Given the description of an element on the screen output the (x, y) to click on. 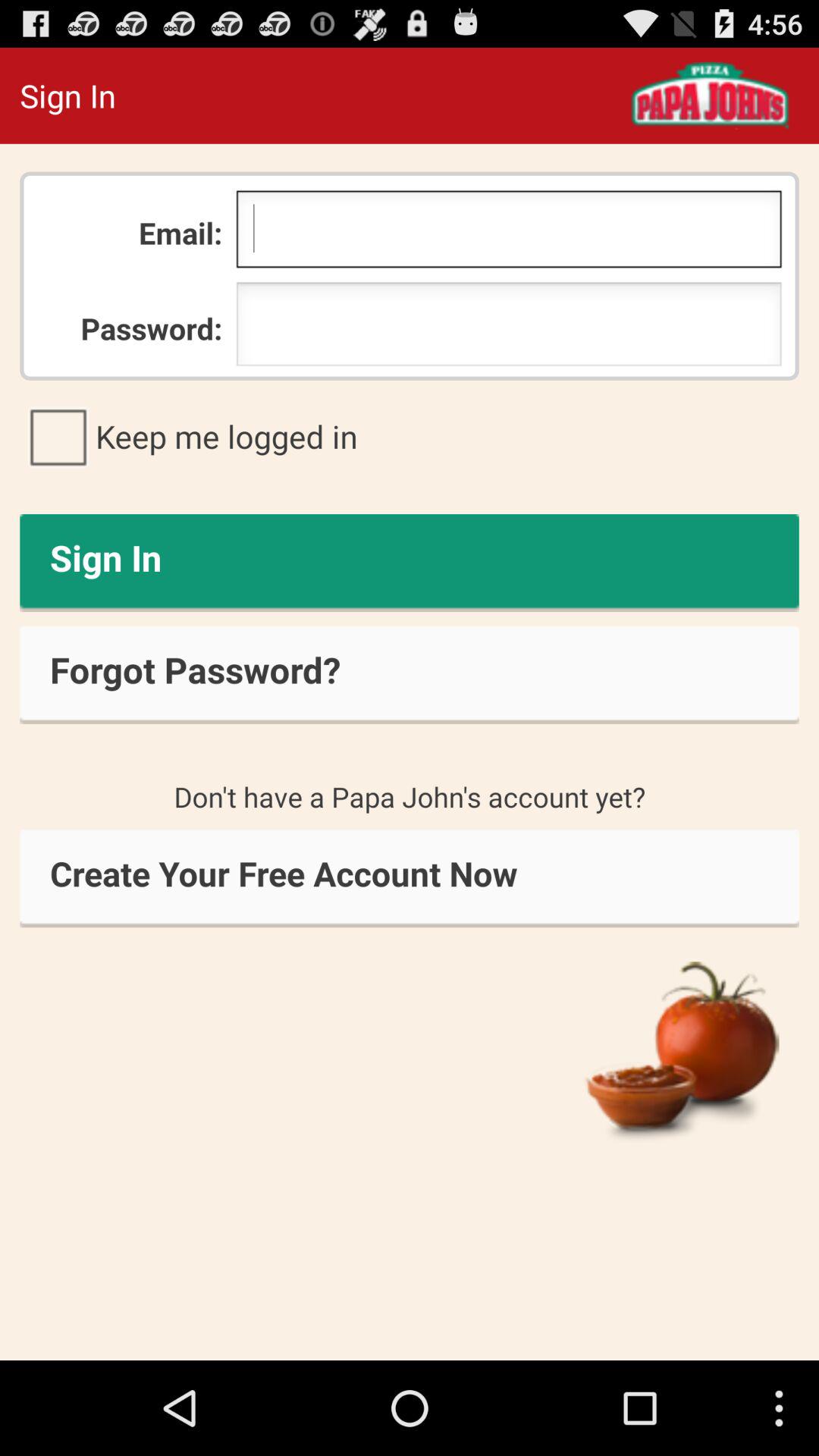
flip until create your free item (409, 878)
